Given the description of an element on the screen output the (x, y) to click on. 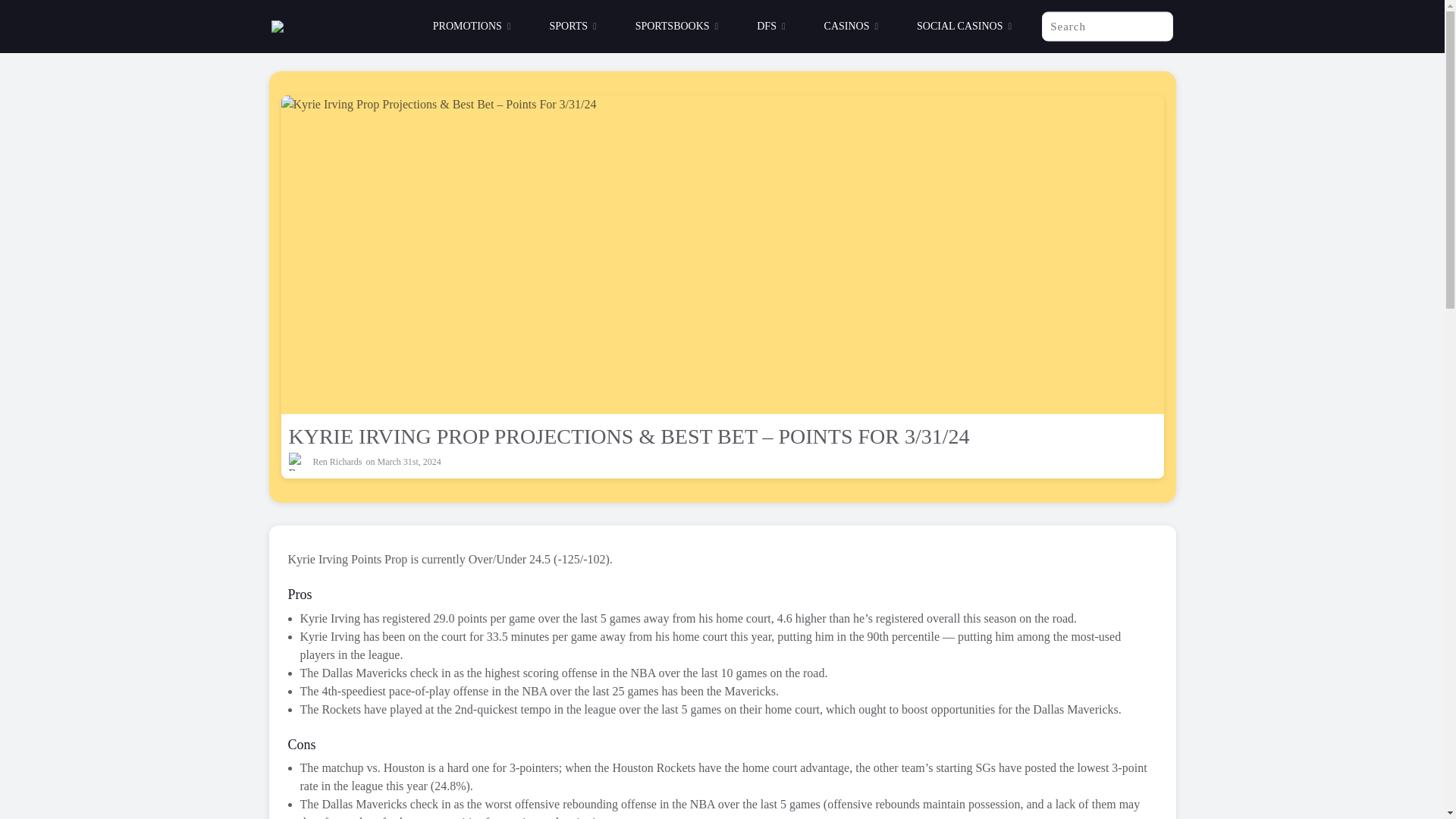
Posts by Ren Richards (337, 461)
PROMOTIONS (471, 26)
